Given the description of an element on the screen output the (x, y) to click on. 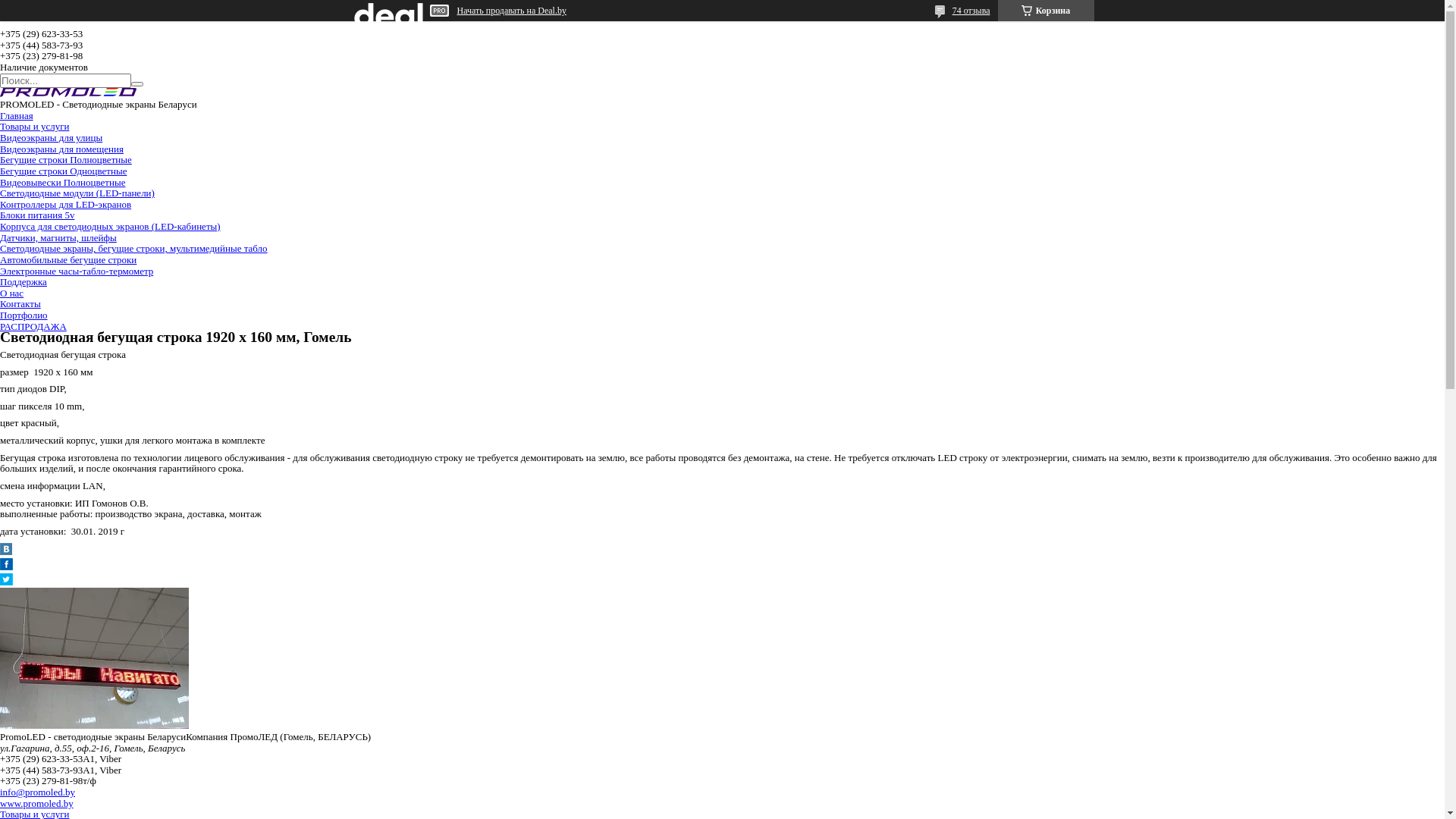
www.promoled.by Element type: text (36, 803)
twitter Element type: hover (6, 581)
facebook Element type: hover (6, 566)
info@promoled.by Element type: text (37, 791)
